Given the description of an element on the screen output the (x, y) to click on. 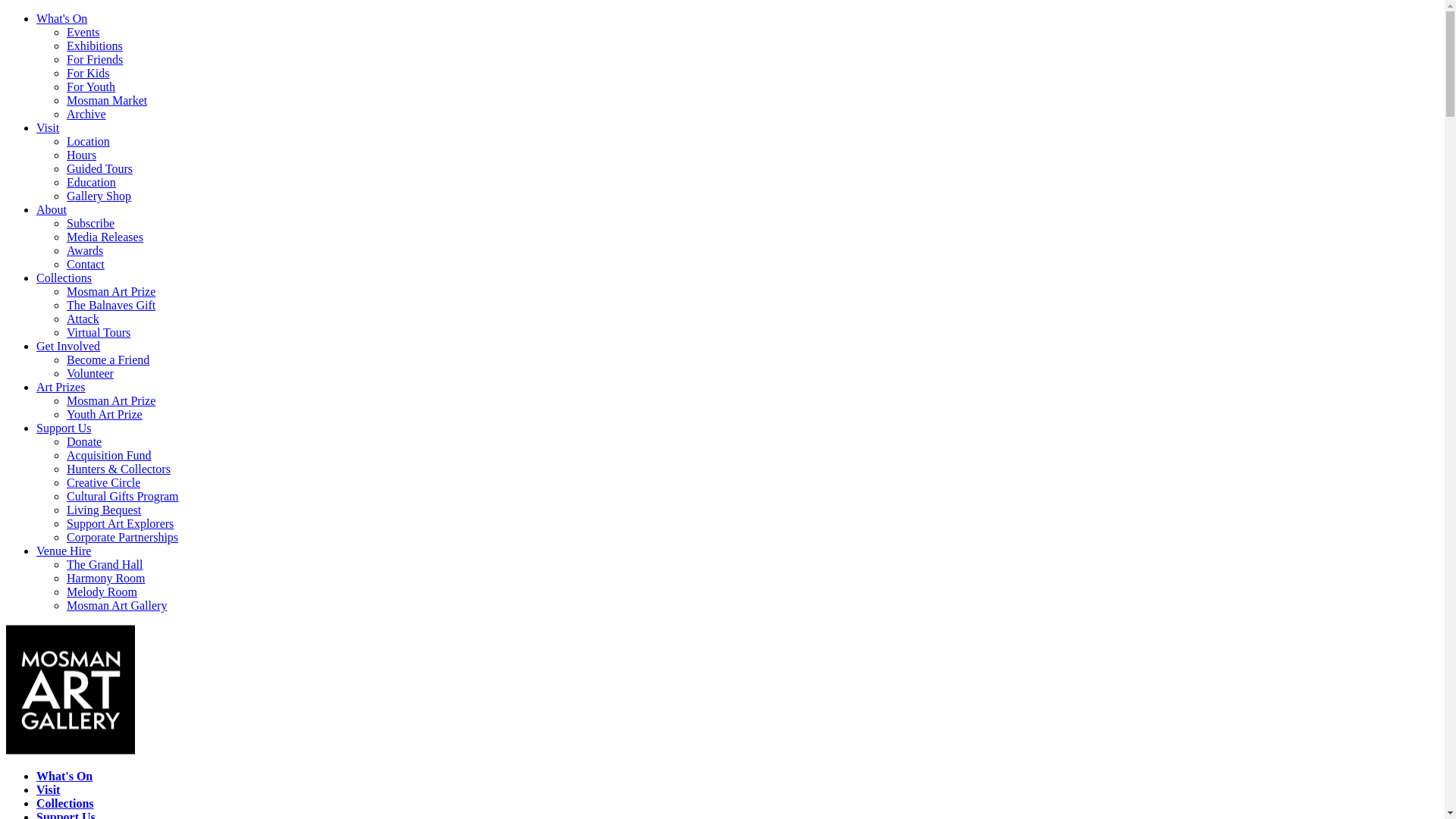
The Grand Hall Element type: text (104, 564)
About Element type: text (51, 209)
For Friends Element type: text (94, 59)
Mosman Art Prize Element type: text (110, 400)
Youth Art Prize Element type: text (104, 413)
Location Element type: text (87, 140)
Venue Hire Element type: text (63, 550)
Mosman Market Element type: text (106, 100)
The Balnaves Gift Element type: text (110, 304)
Become a Friend Element type: text (107, 359)
Melody Room Element type: text (101, 591)
Attack Element type: text (82, 318)
Education Element type: text (91, 181)
Mosman Art Gallery Element type: text (116, 605)
For Kids Element type: text (87, 72)
Contact Element type: text (85, 263)
Support Us Element type: text (63, 427)
Archive Element type: text (86, 113)
Cultural Gifts Program Element type: text (122, 495)
Home Element type: hover (70, 749)
Visit Element type: text (47, 127)
Exhibitions Element type: text (94, 45)
Subscribe Element type: text (90, 222)
Events Element type: text (83, 31)
Mosman Art Prize Element type: text (110, 291)
What's On Element type: text (61, 18)
For Youth Element type: text (90, 86)
Virtual Tours Element type: text (98, 332)
Corporate Partnerships Element type: text (122, 536)
Get Involved Element type: text (68, 345)
Living Bequest Element type: text (103, 509)
Support Art Explorers Element type: text (119, 523)
Media Releases Element type: text (104, 236)
Collections Element type: text (63, 277)
Collections Element type: text (65, 803)
Creative Circle Element type: text (103, 482)
Jump to navigation Element type: text (52, 12)
Hunters & Collectors Element type: text (118, 468)
Acquisition Fund Element type: text (108, 454)
Guided Tours Element type: text (99, 168)
Harmony Room Element type: text (105, 577)
Volunteer Element type: text (89, 373)
Donate Element type: text (83, 441)
Hours Element type: text (81, 154)
Art Prizes Element type: text (60, 386)
Awards Element type: text (84, 250)
What's On Element type: text (64, 775)
Visit Element type: text (47, 789)
Gallery Shop Element type: text (98, 195)
